Given the description of an element on the screen output the (x, y) to click on. 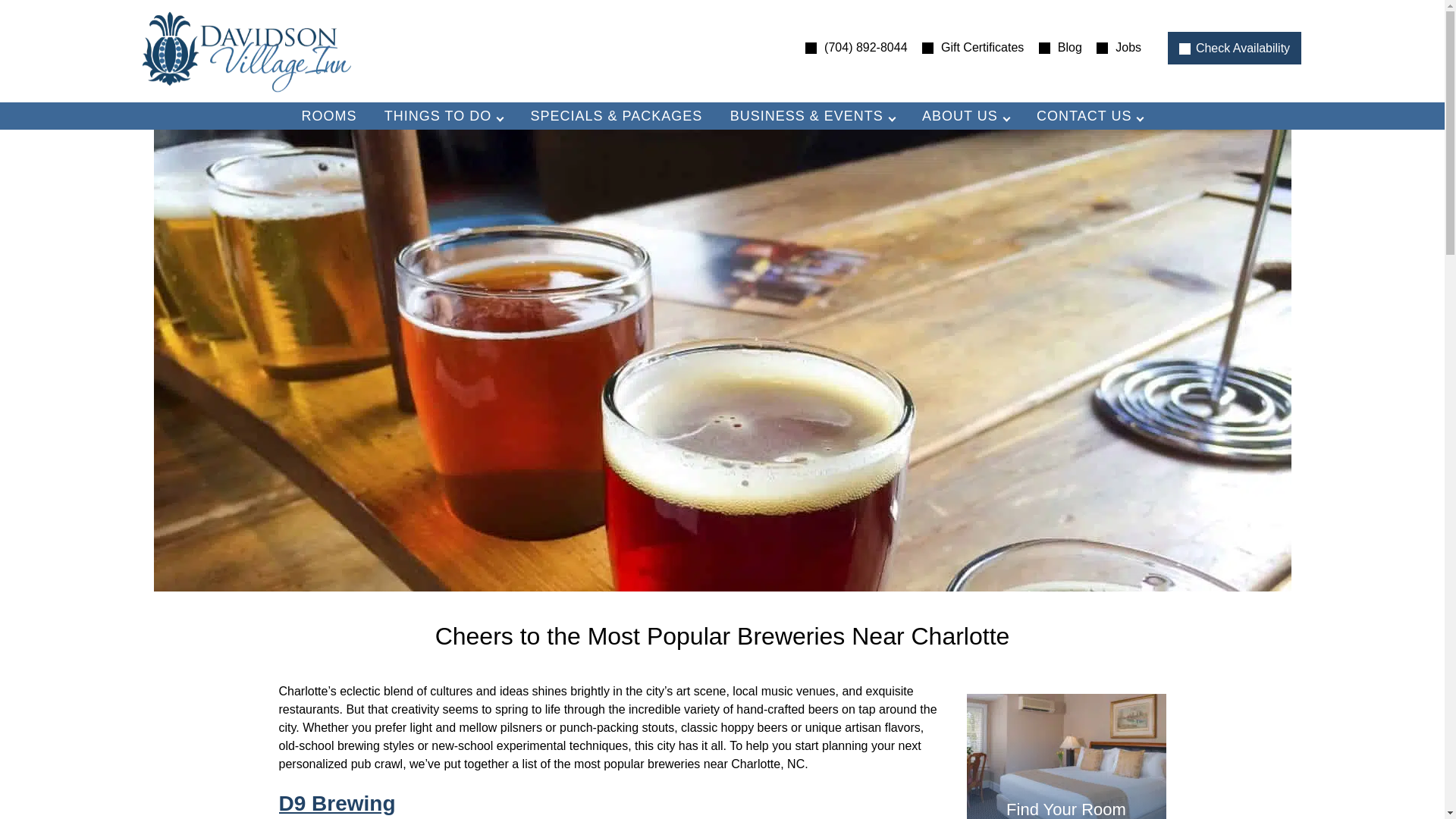
Gift Certificates (967, 47)
Check Availability (1234, 47)
Jobs (1112, 47)
Blog (1054, 47)
